Given the description of an element on the screen output the (x, y) to click on. 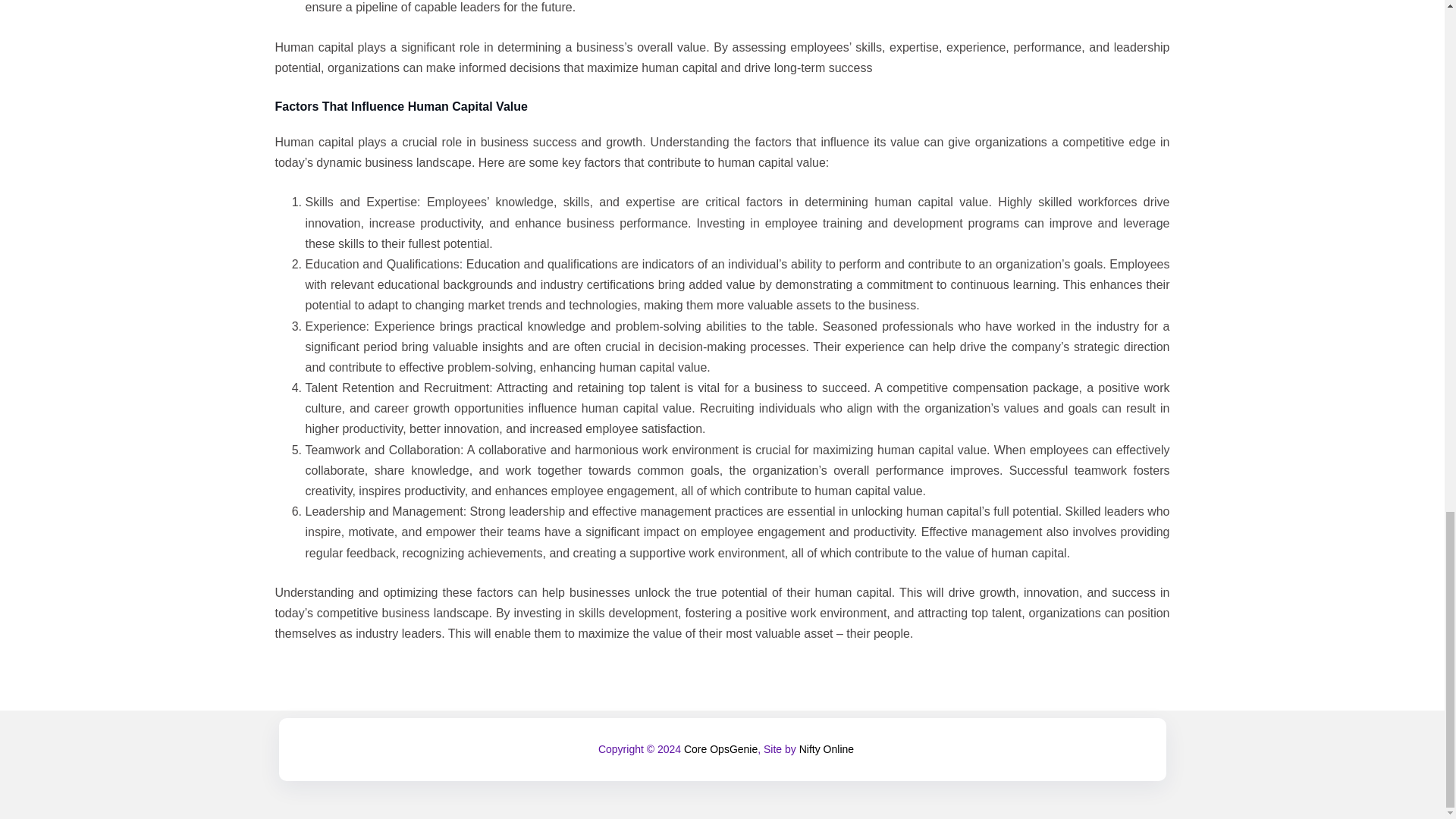
Nifty Online (826, 748)
Core OpsGenie (720, 748)
